Given the description of an element on the screen output the (x, y) to click on. 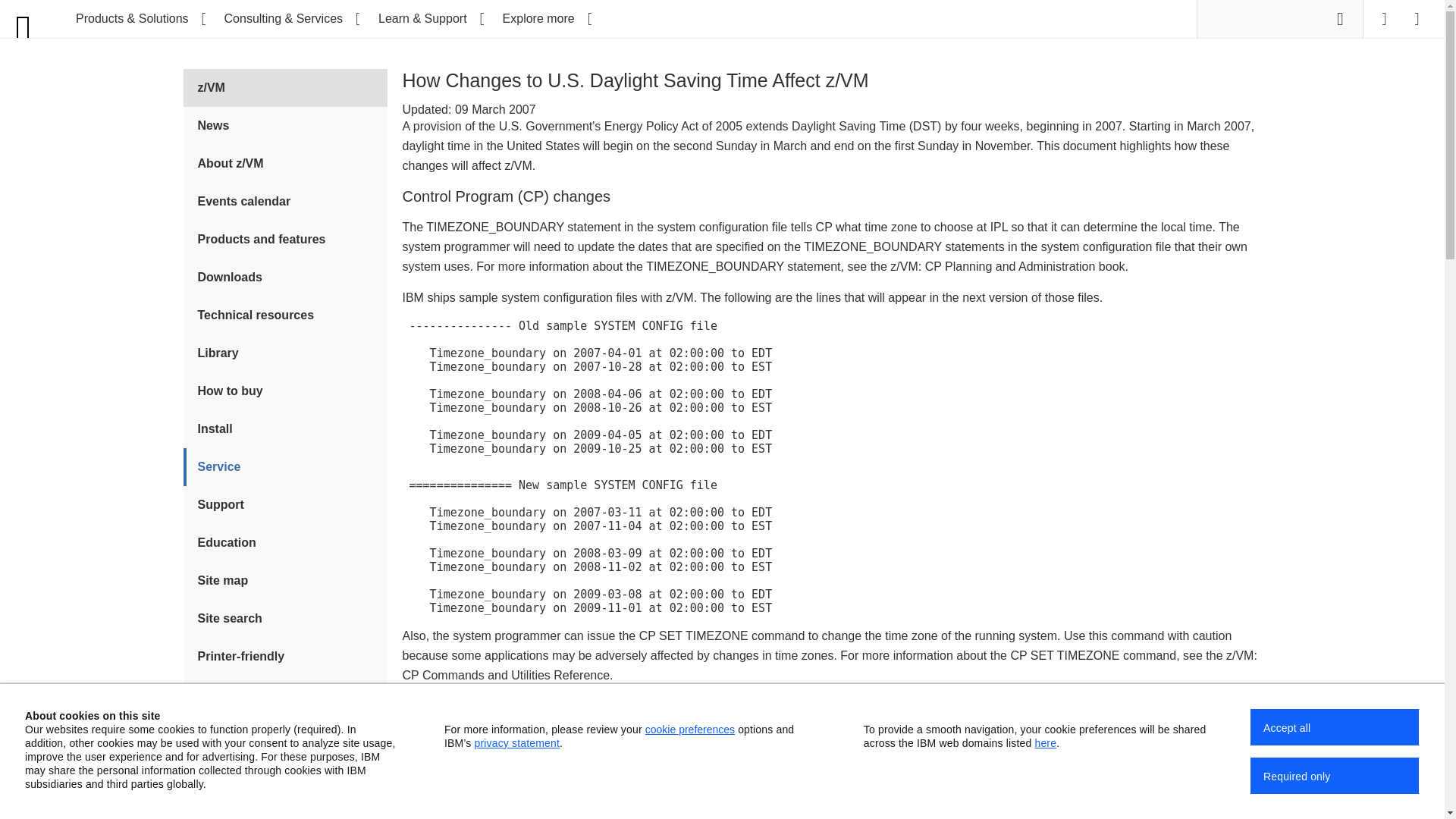
Explore more (546, 18)
